Given the description of an element on the screen output the (x, y) to click on. 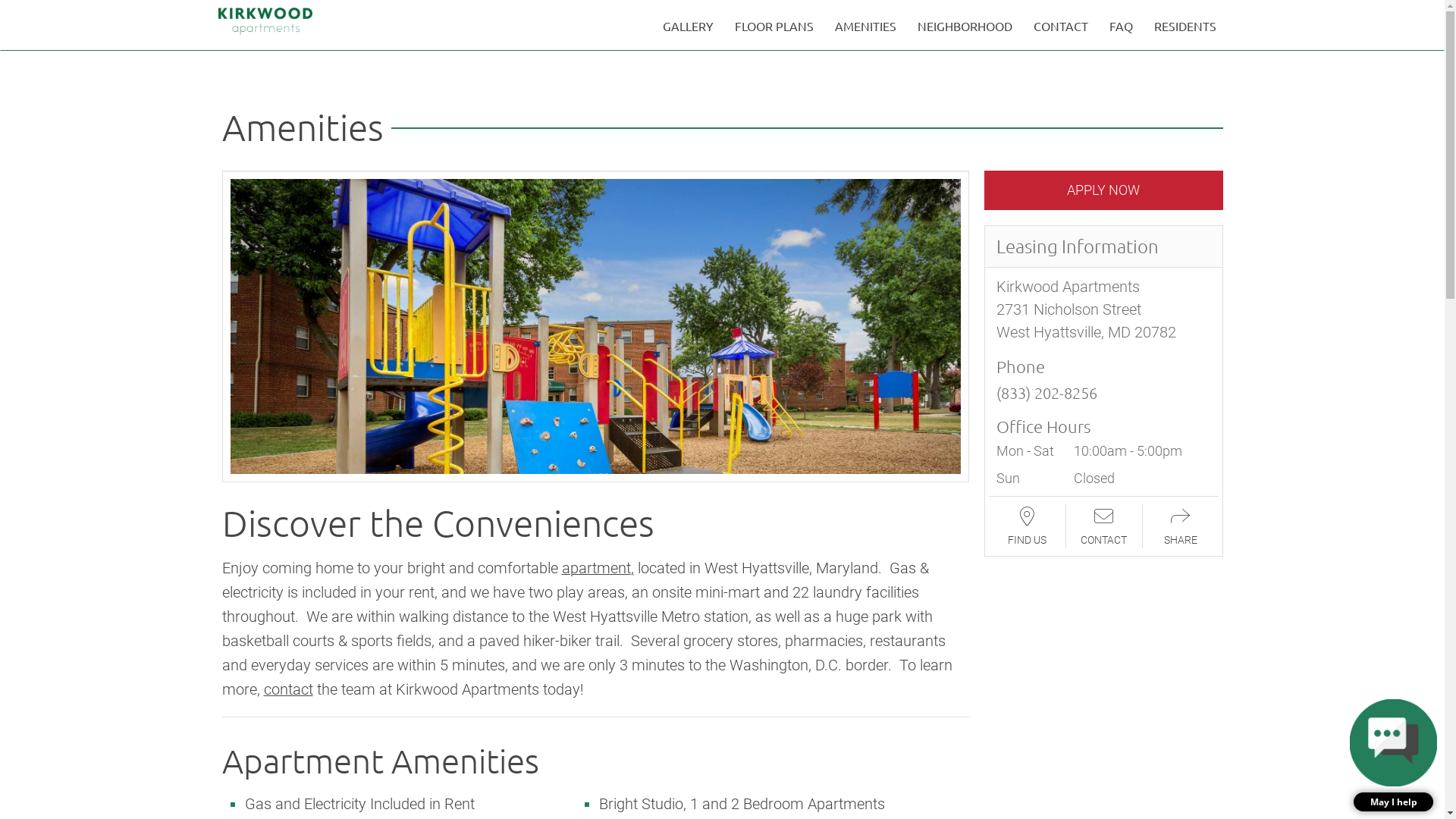
SHARE Element type: text (1179, 526)
CONTACT Element type: text (1060, 25)
FAQ Element type: text (1120, 25)
APPLY NOW Element type: text (1103, 190)
May I help Element type: text (1393, 755)
apartment Element type: text (595, 567)
FIND US Element type: text (1026, 526)
contact Element type: text (288, 689)
GALLERY Element type: text (688, 25)
AMENITIES Element type: text (864, 25)
NEIGHBORHOOD Element type: text (964, 25)
FLOOR PLANS Element type: text (773, 25)
(833) 202-8256 Element type: text (1046, 392)
CONTACT Element type: text (1103, 526)
Concierge Chatbot Element type: hover (1393, 742)
RESIDENTS Element type: text (1184, 25)
